Given the description of an element on the screen output the (x, y) to click on. 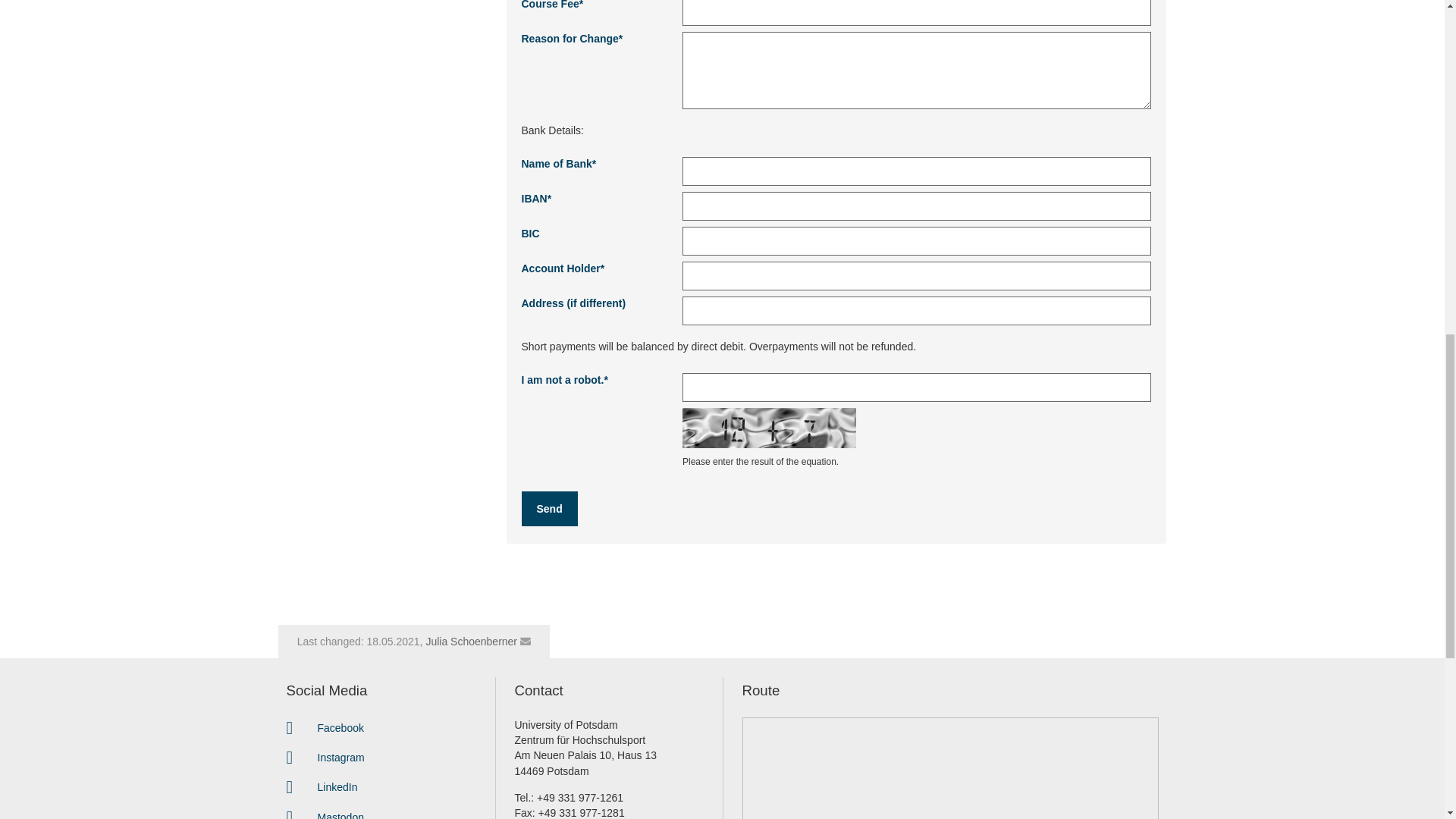
Send (549, 508)
